Given the description of an element on the screen output the (x, y) to click on. 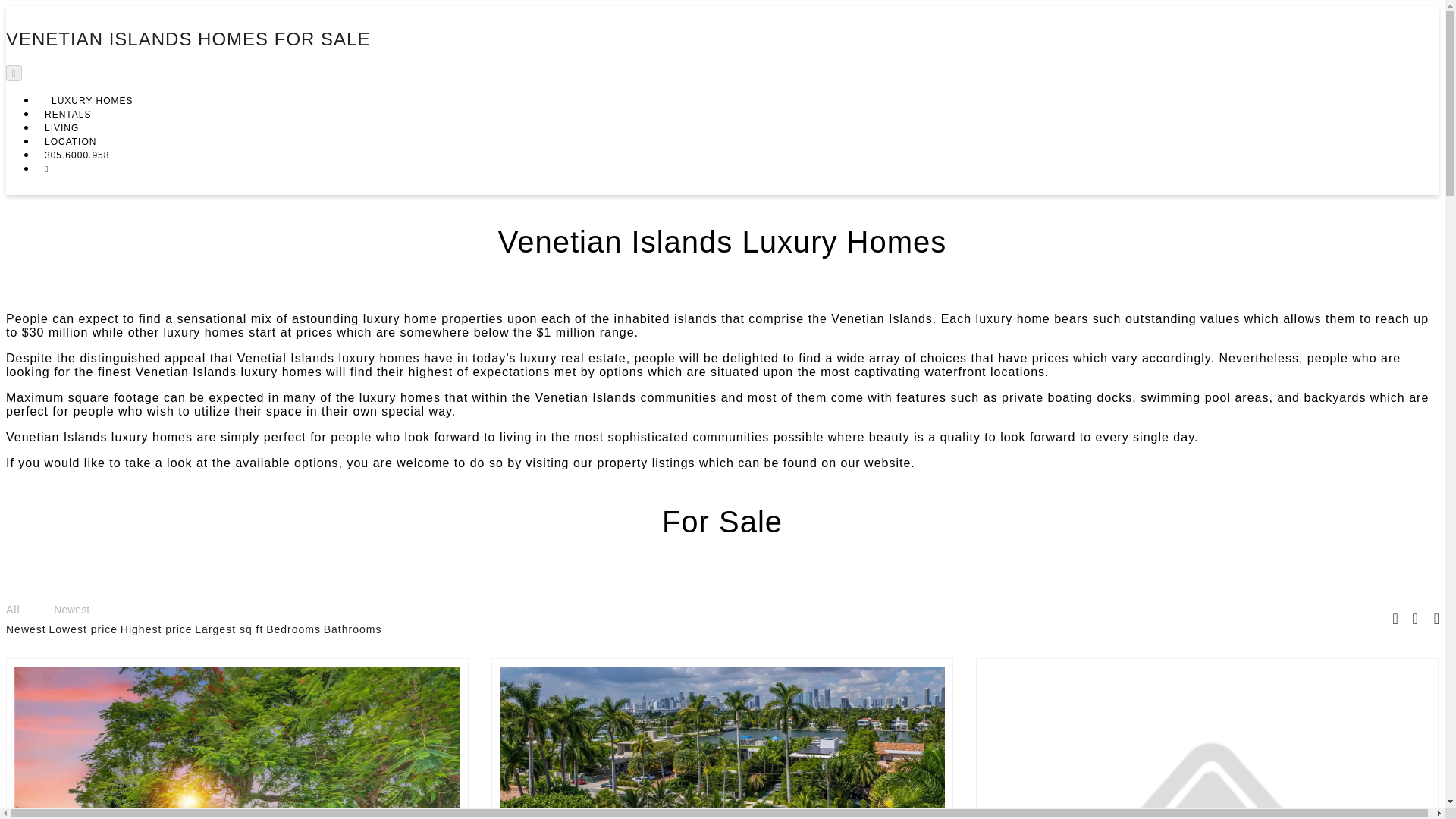
Rentals (67, 113)
Highest price (156, 629)
Newest (70, 609)
Bathrooms (352, 629)
305.6000.958 (77, 154)
Lowest price (82, 629)
Location (70, 141)
Bedrooms (293, 629)
Living (61, 127)
305.6000.958 (77, 154)
LIVING (61, 127)
All (12, 609)
Largest sq ft (229, 629)
Newest (25, 629)
RENTALS (67, 113)
